Given the description of an element on the screen output the (x, y) to click on. 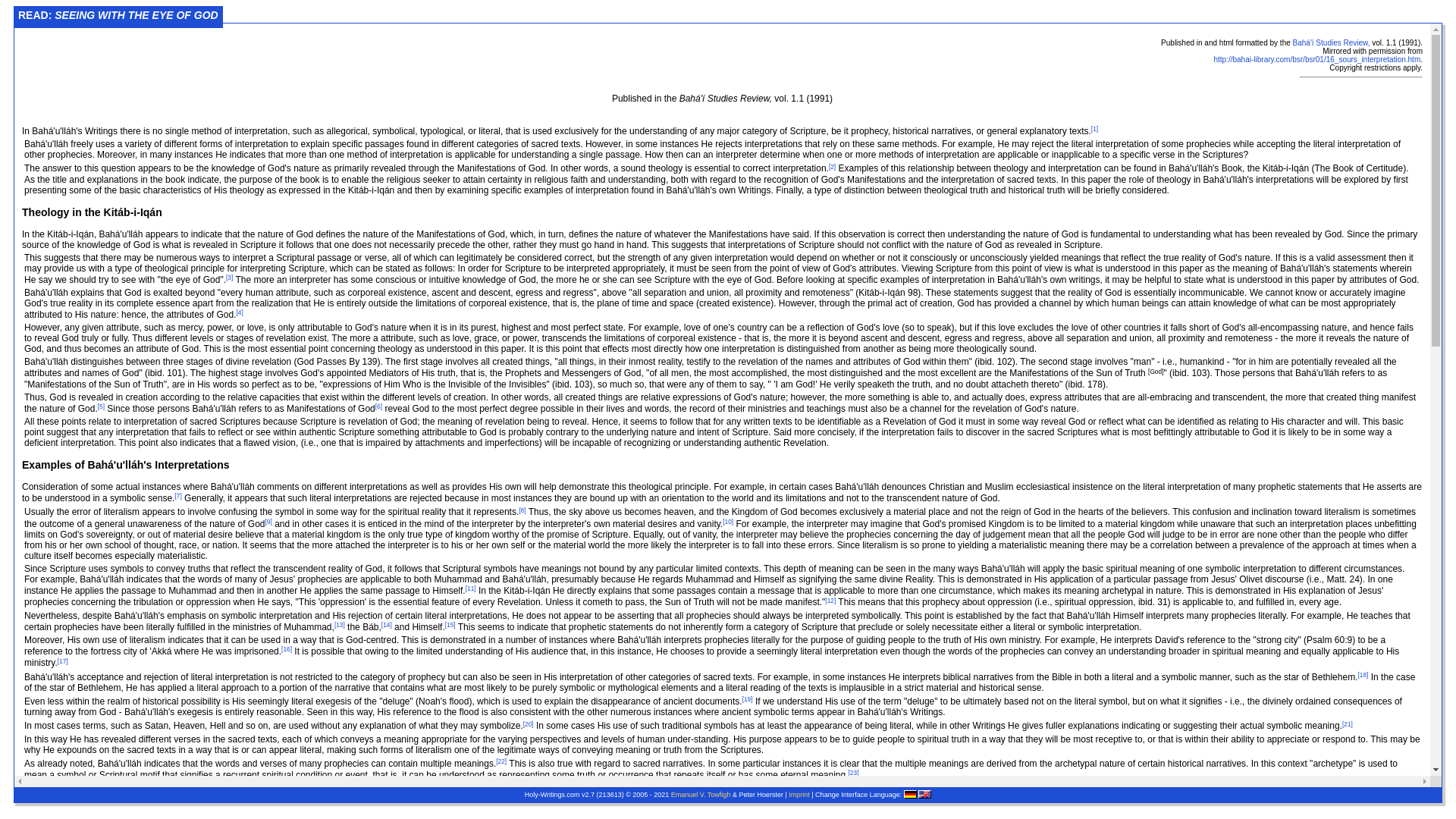
EN (924, 794)
READ: SEEING WITH THE EYE OF GOD (117, 14)
DE (910, 794)
